Given the description of an element on the screen output the (x, y) to click on. 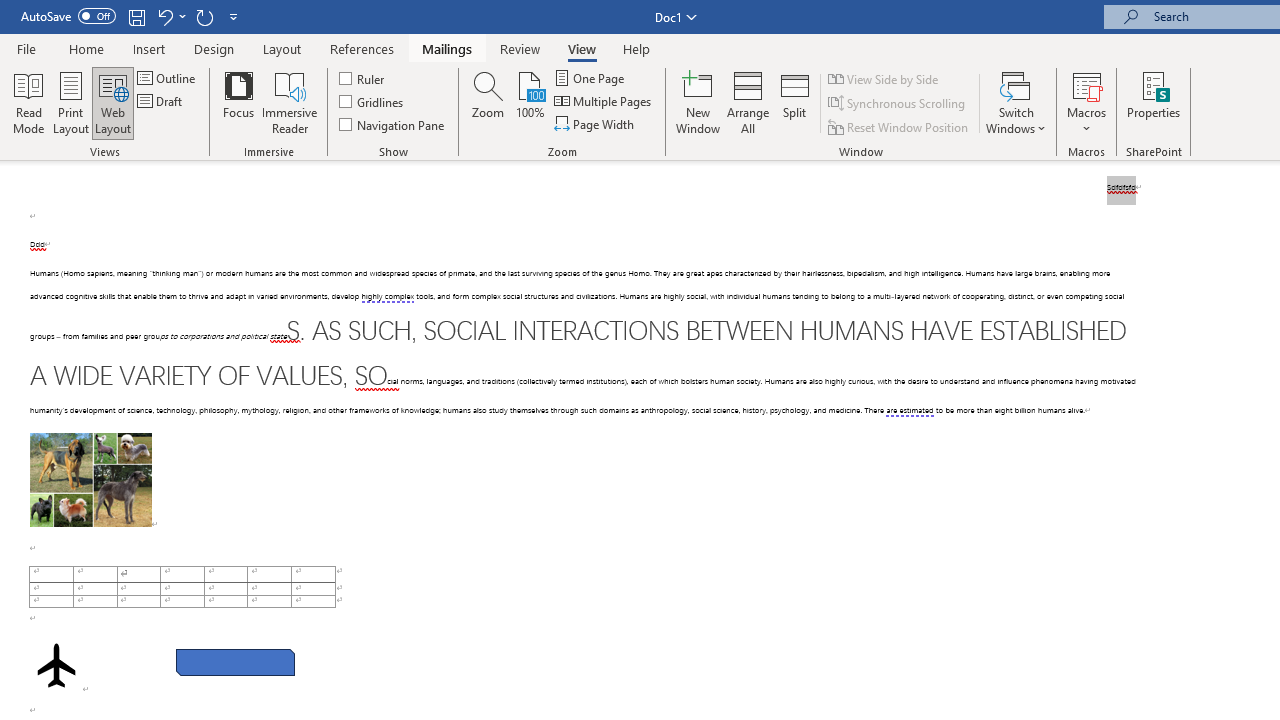
Outline (168, 78)
View Macros (1086, 84)
Page Width (595, 124)
Synchronous Scrolling (898, 103)
Rectangle: Diagonal Corners Snipped 2 (235, 662)
Macros (1086, 102)
Multiple Pages (603, 101)
Zoom... (488, 102)
Draft (161, 101)
